Given the description of an element on the screen output the (x, y) to click on. 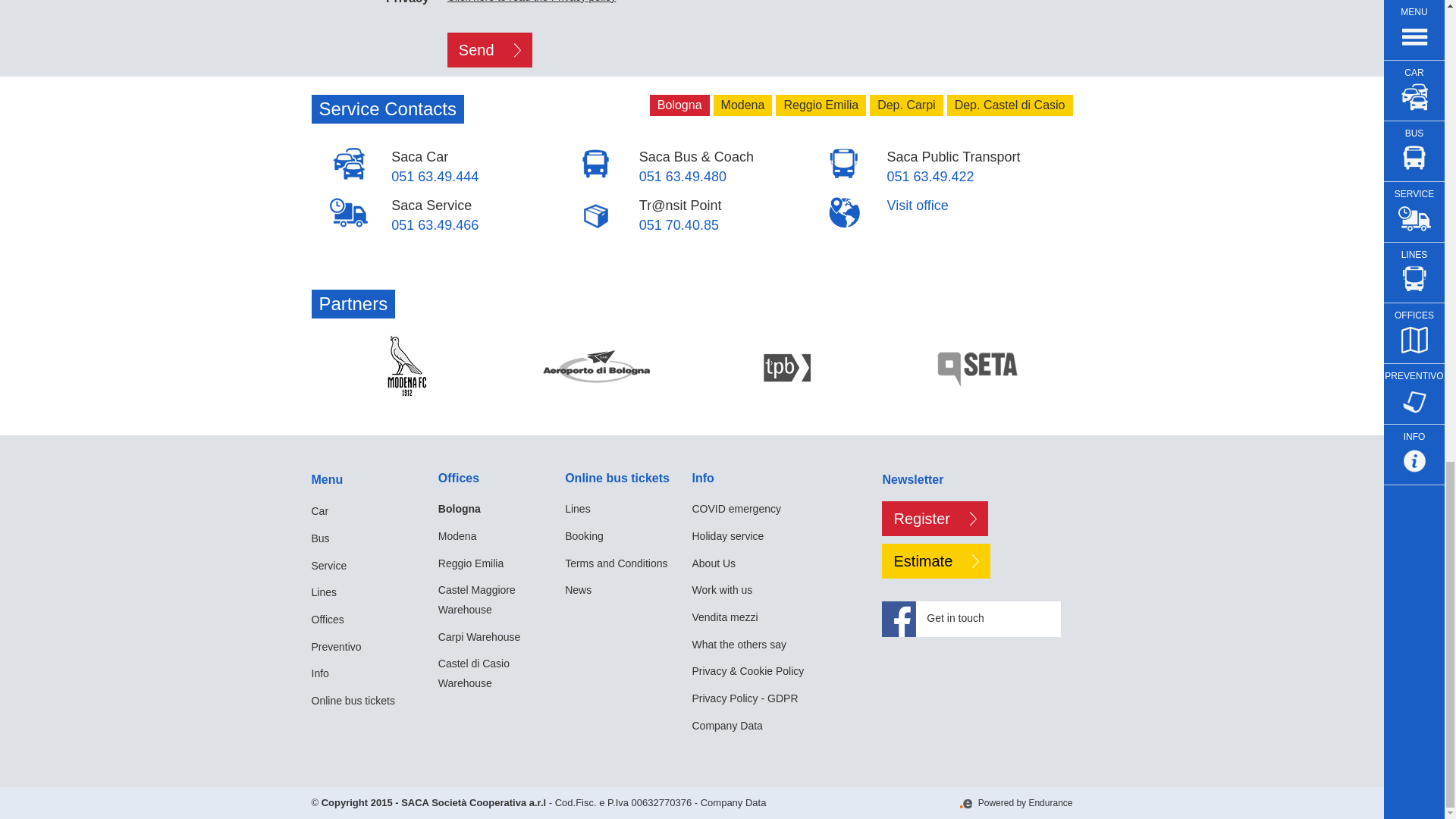
Send (489, 49)
Bologna airport (596, 365)
